Given the description of an element on the screen output the (x, y) to click on. 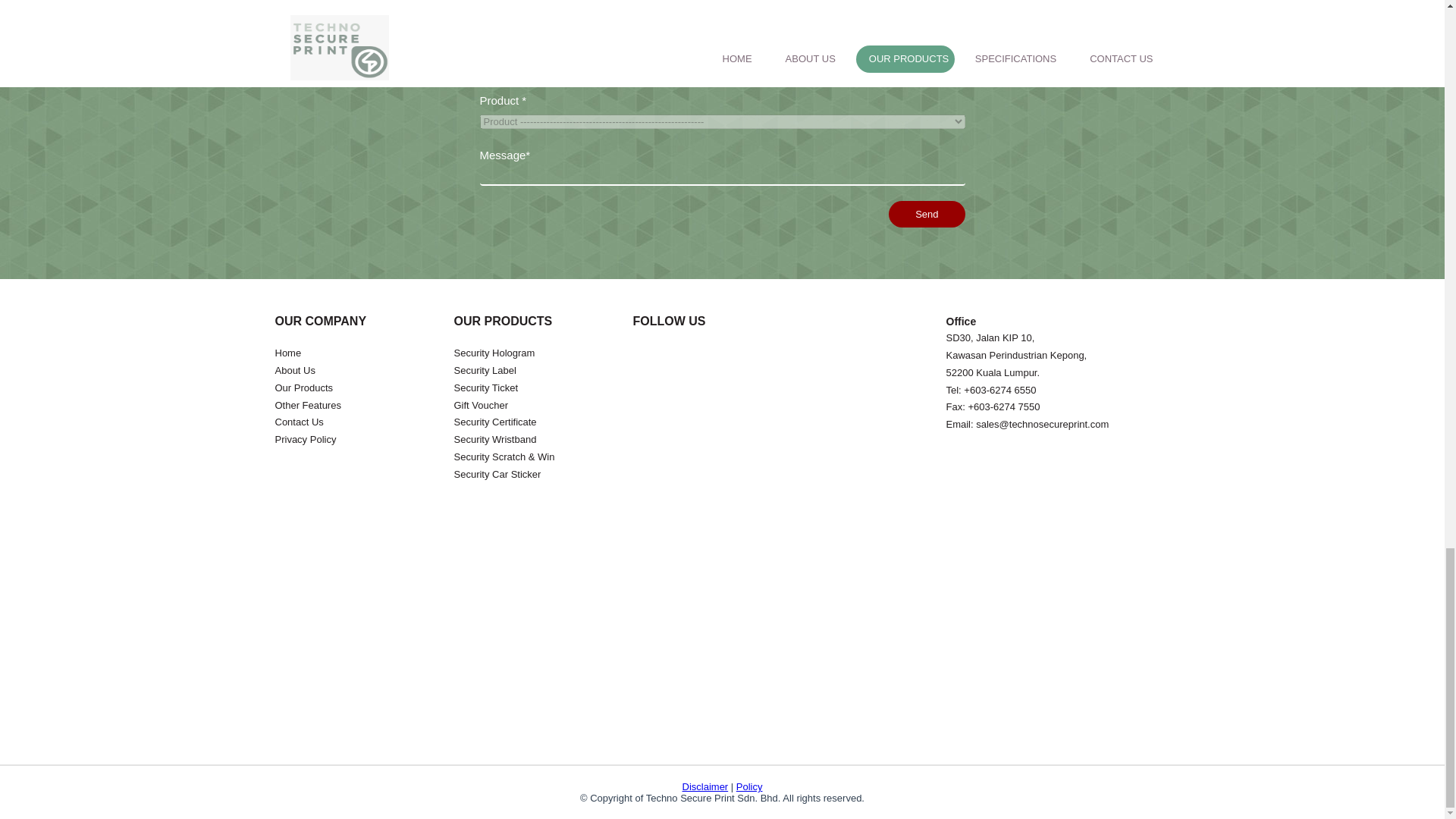
About Us (294, 369)
Contact Us (299, 421)
Security Ticket (485, 387)
Gift Voucher (480, 405)
Our Products (304, 387)
Security Wristband (493, 439)
Other Features (307, 405)
Security Certificate (493, 421)
Send (925, 213)
Security Hologram (493, 352)
